Given the description of an element on the screen output the (x, y) to click on. 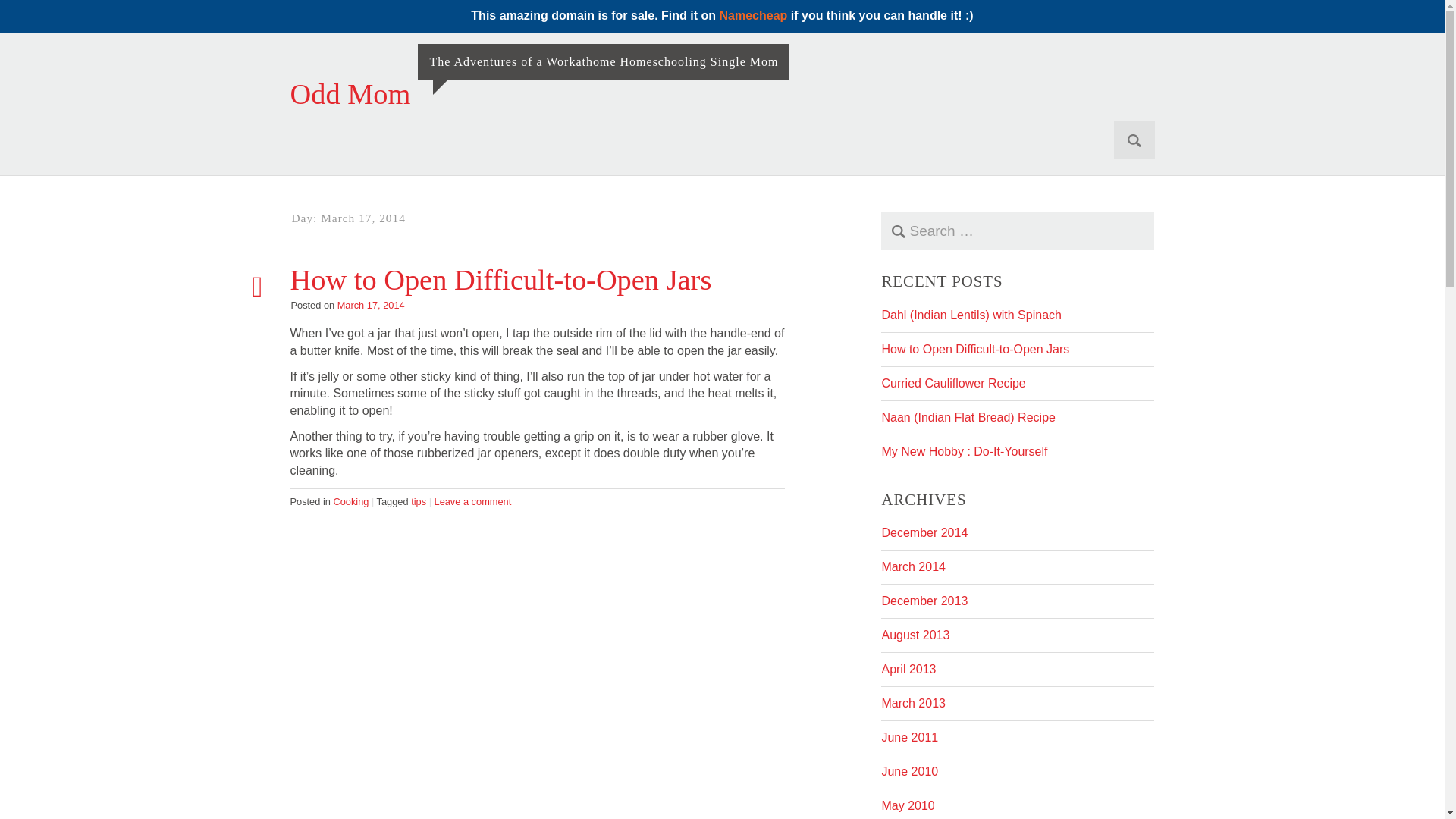
June 2010 (908, 771)
May 2010 (907, 805)
December 2014 (924, 532)
Cooking (350, 501)
Namecheap (753, 15)
June 2011 (908, 737)
March 2014 (912, 566)
December 2013 (924, 600)
My New Hobby : Do-It-Yourself (963, 451)
Leave a comment (472, 501)
